Given the description of an element on the screen output the (x, y) to click on. 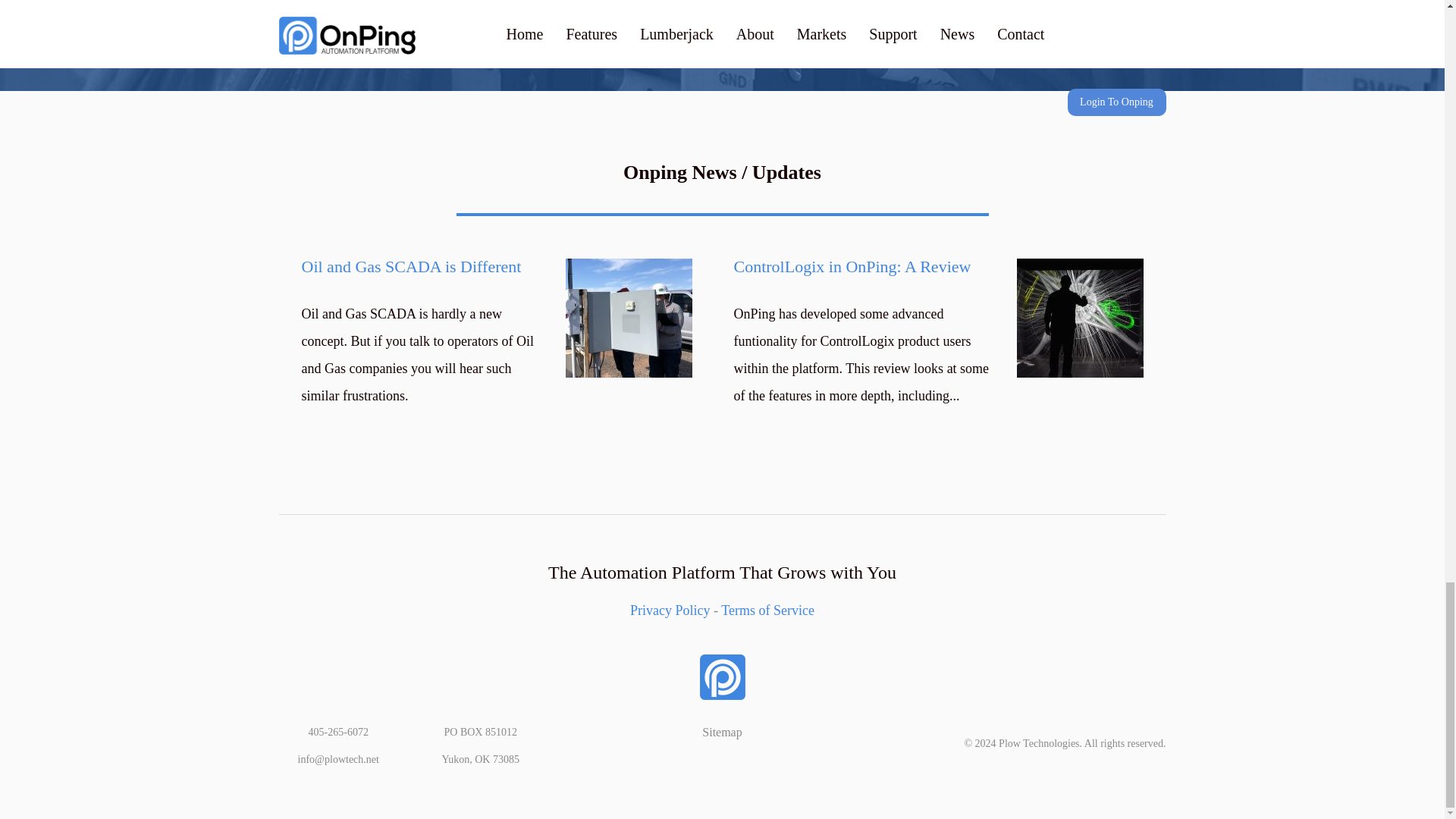
ControlLogix in OnPing: A Review (866, 266)
Privacy Policy (670, 610)
405-265-6072 (338, 731)
Oil and Gas SCADA is Different (424, 266)
Send A Request (896, 34)
Sitemap (721, 731)
Send A Request (896, 34)
Terms of Service (766, 610)
